Given the description of an element on the screen output the (x, y) to click on. 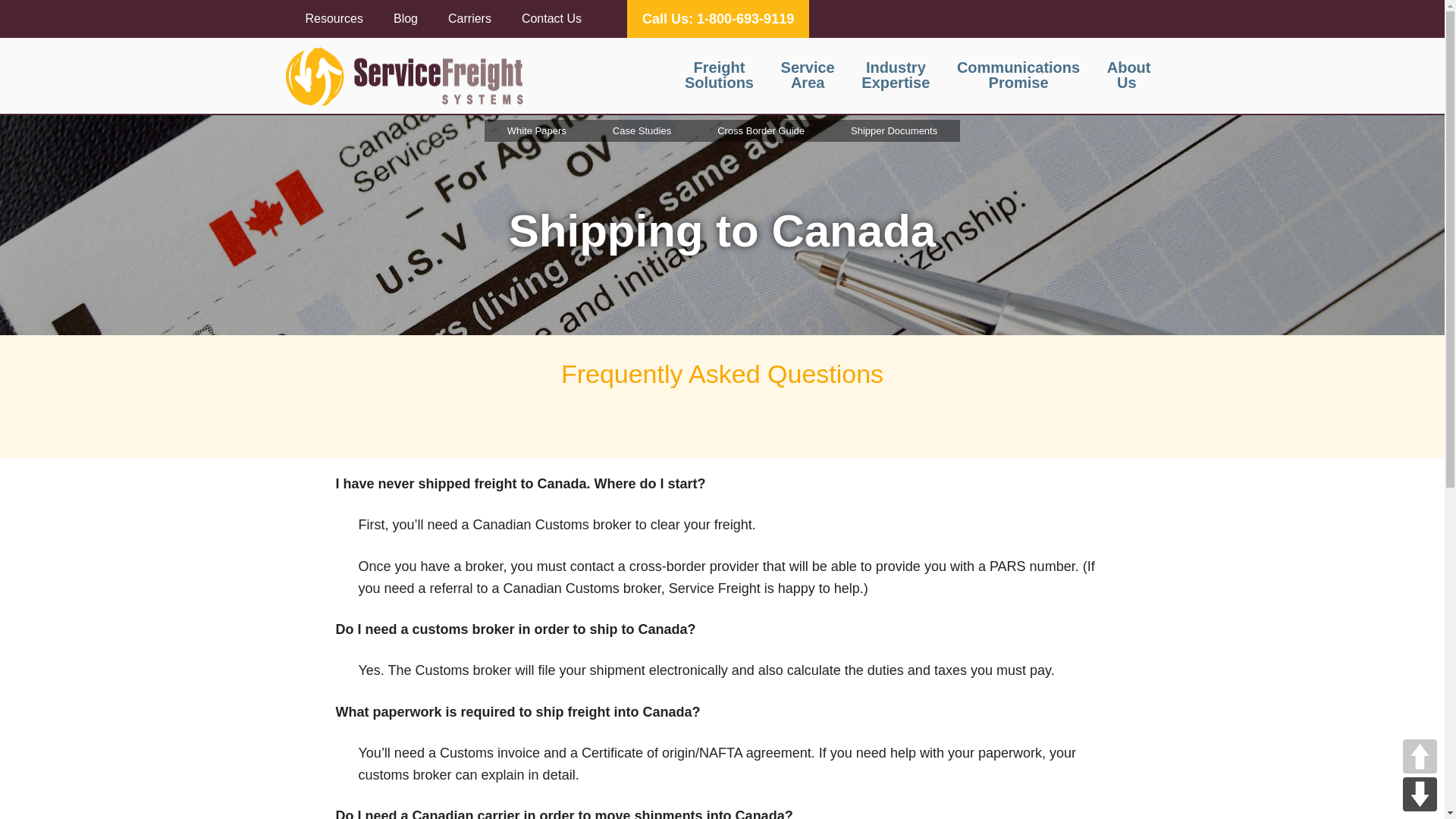
Resources (333, 18)
Case Studies (641, 130)
Blog (405, 18)
Call Us: 1-800-693-9119 (718, 18)
Cross Border Guide (718, 74)
Shipper Documents (1017, 74)
